Given the description of an element on the screen output the (x, y) to click on. 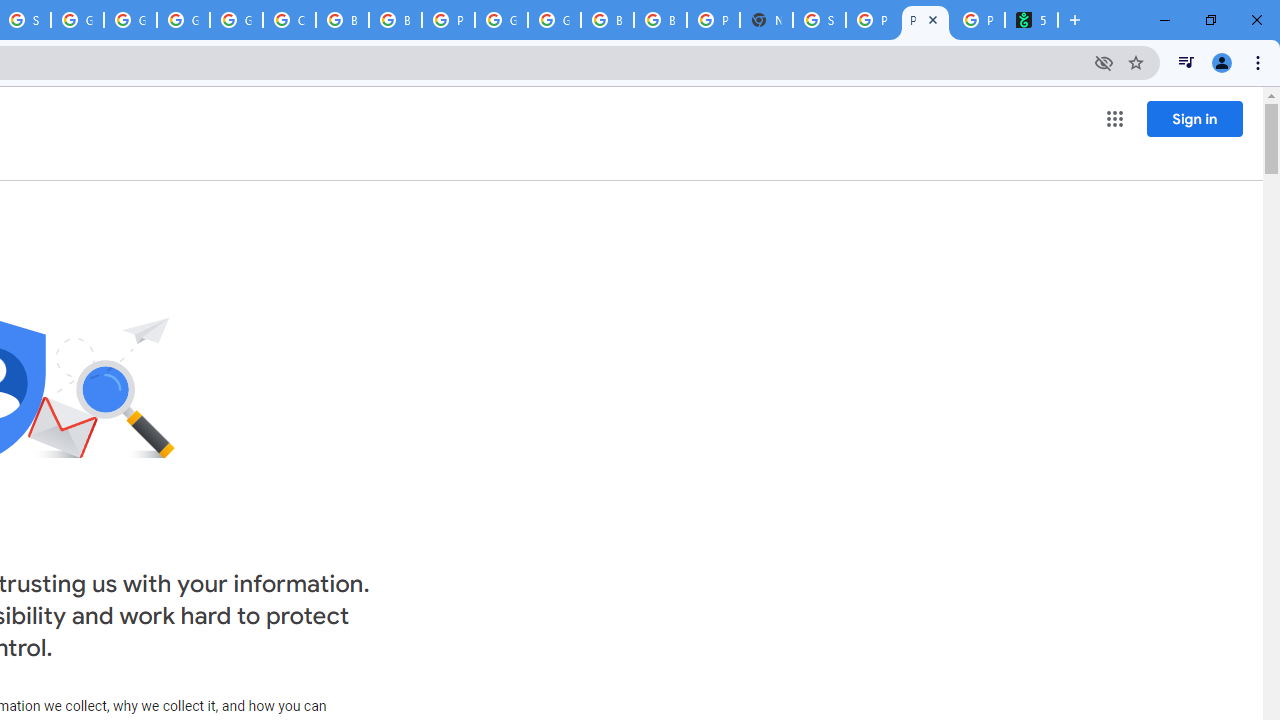
Browse Chrome as a guest - Computer - Google Chrome Help (607, 20)
New Tab (766, 20)
Browse Chrome as a guest - Computer - Google Chrome Help (342, 20)
Google Cloud Platform (183, 20)
Google Cloud Platform (554, 20)
